Given the description of an element on the screen output the (x, y) to click on. 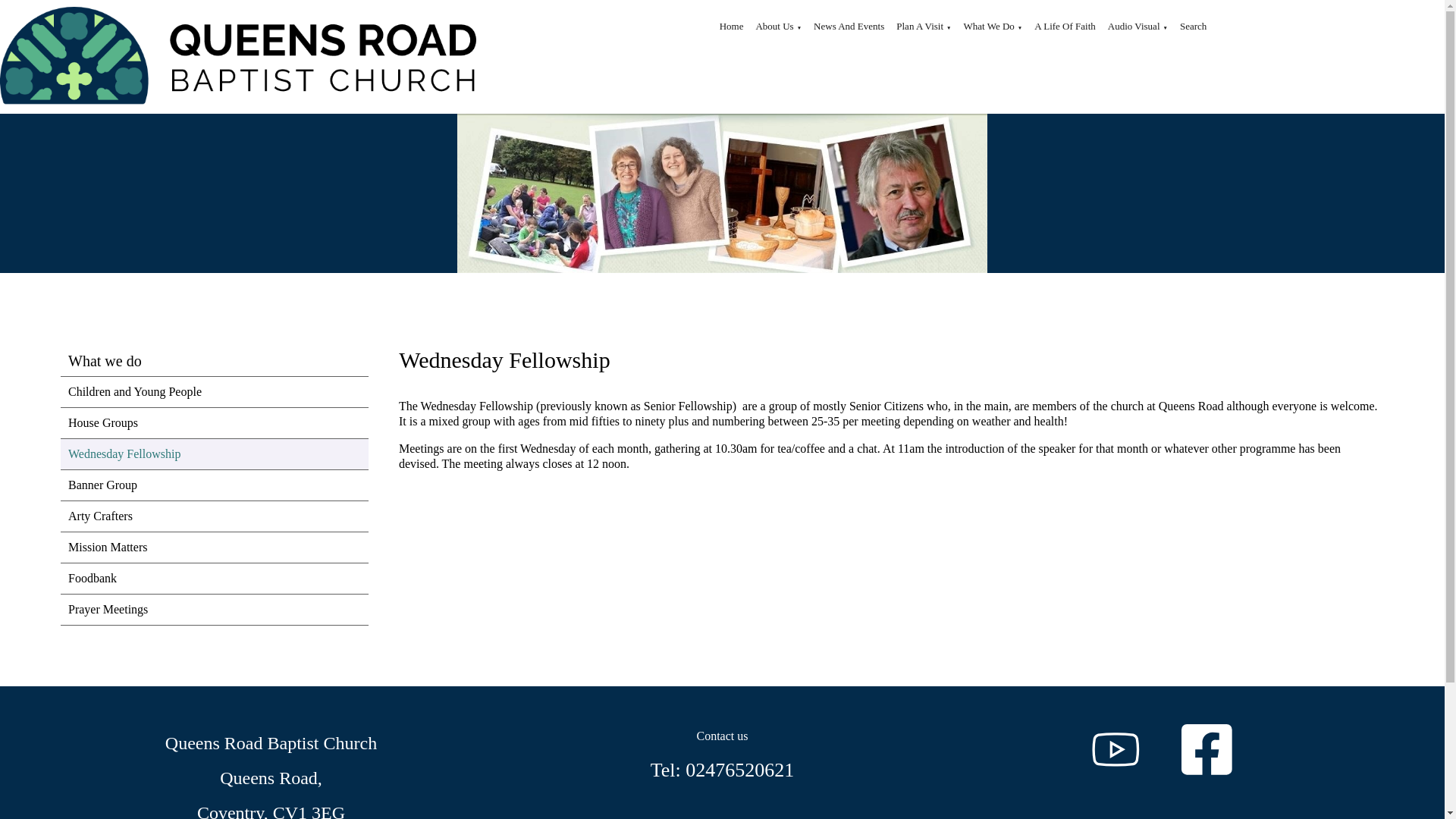
Queens Road Baptist Church (240, 56)
